Given the description of an element on the screen output the (x, y) to click on. 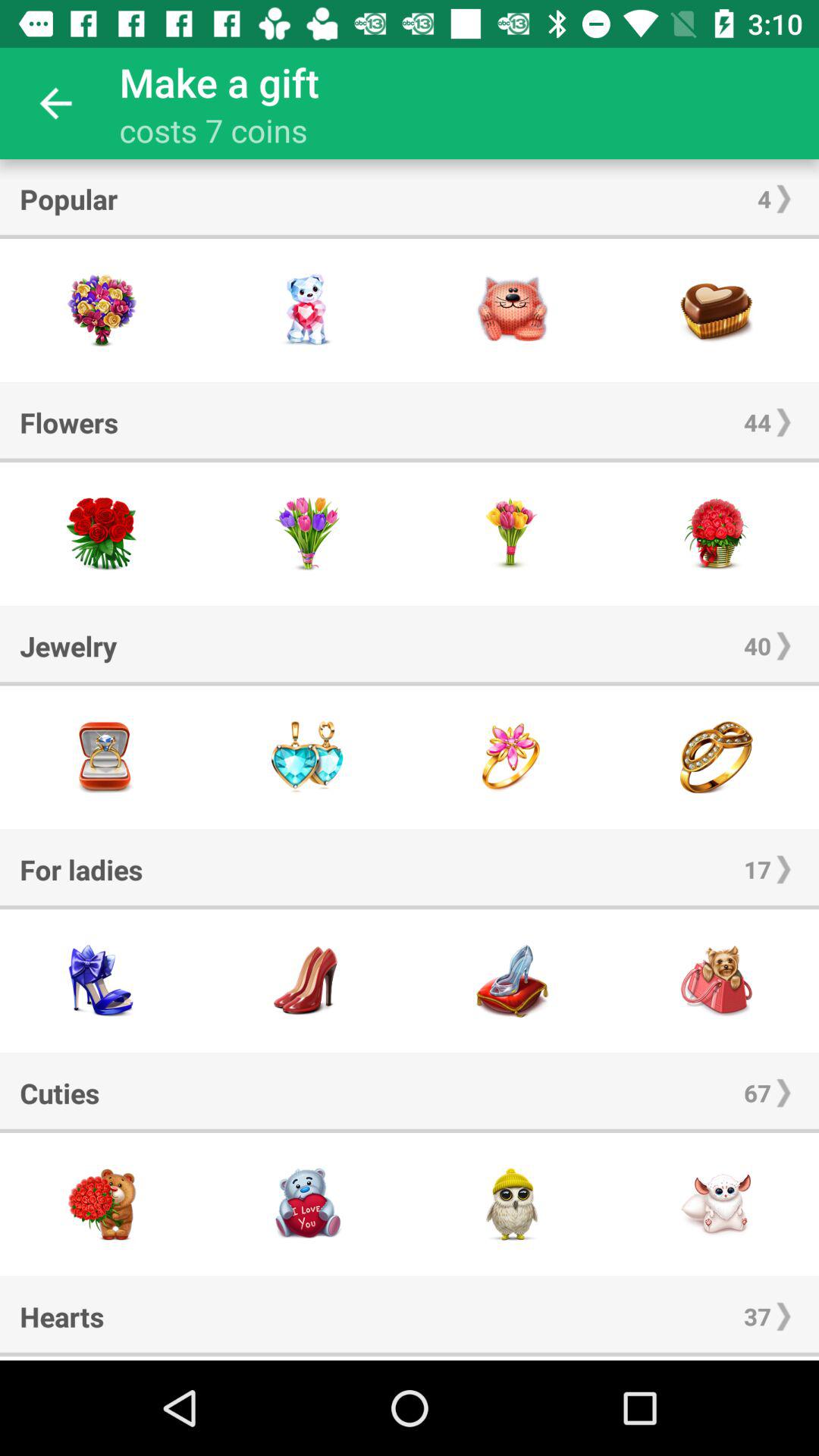
tap the item above popular (55, 103)
